Given the description of an element on the screen output the (x, y) to click on. 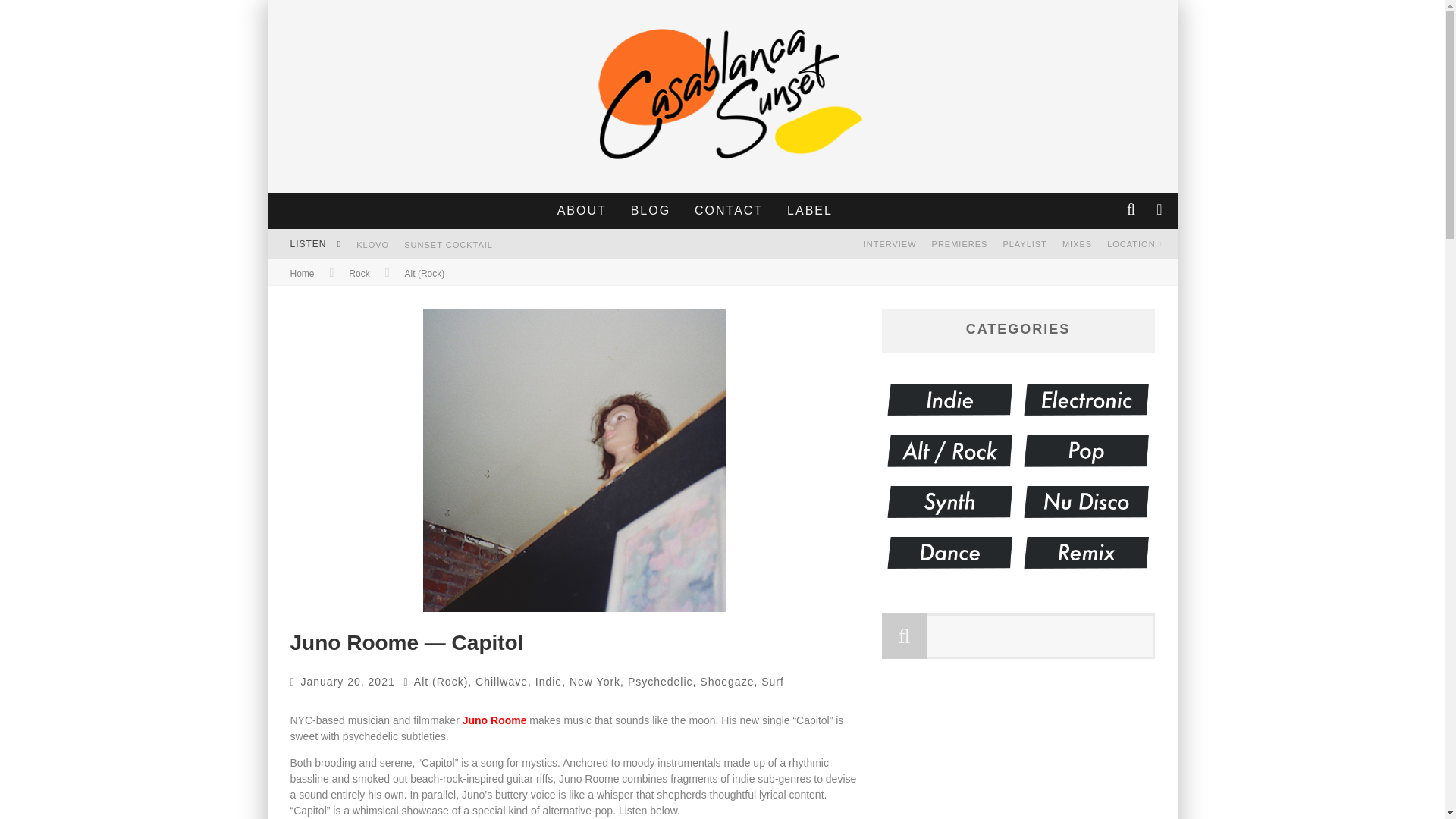
View all posts in Indie (548, 681)
MIXES (1076, 244)
PLAYLIST (1024, 244)
View all posts in New York (594, 681)
View all posts in Surf (772, 681)
Log In (721, 463)
PREMIERES (959, 244)
View all posts in Chillwave (501, 681)
Location (1134, 244)
View all posts in Shoegaze (727, 681)
CONTACT (728, 210)
LOCATION (1134, 244)
LABEL (810, 210)
BLOG (650, 210)
INTERVIEW (890, 244)
